Given the description of an element on the screen output the (x, y) to click on. 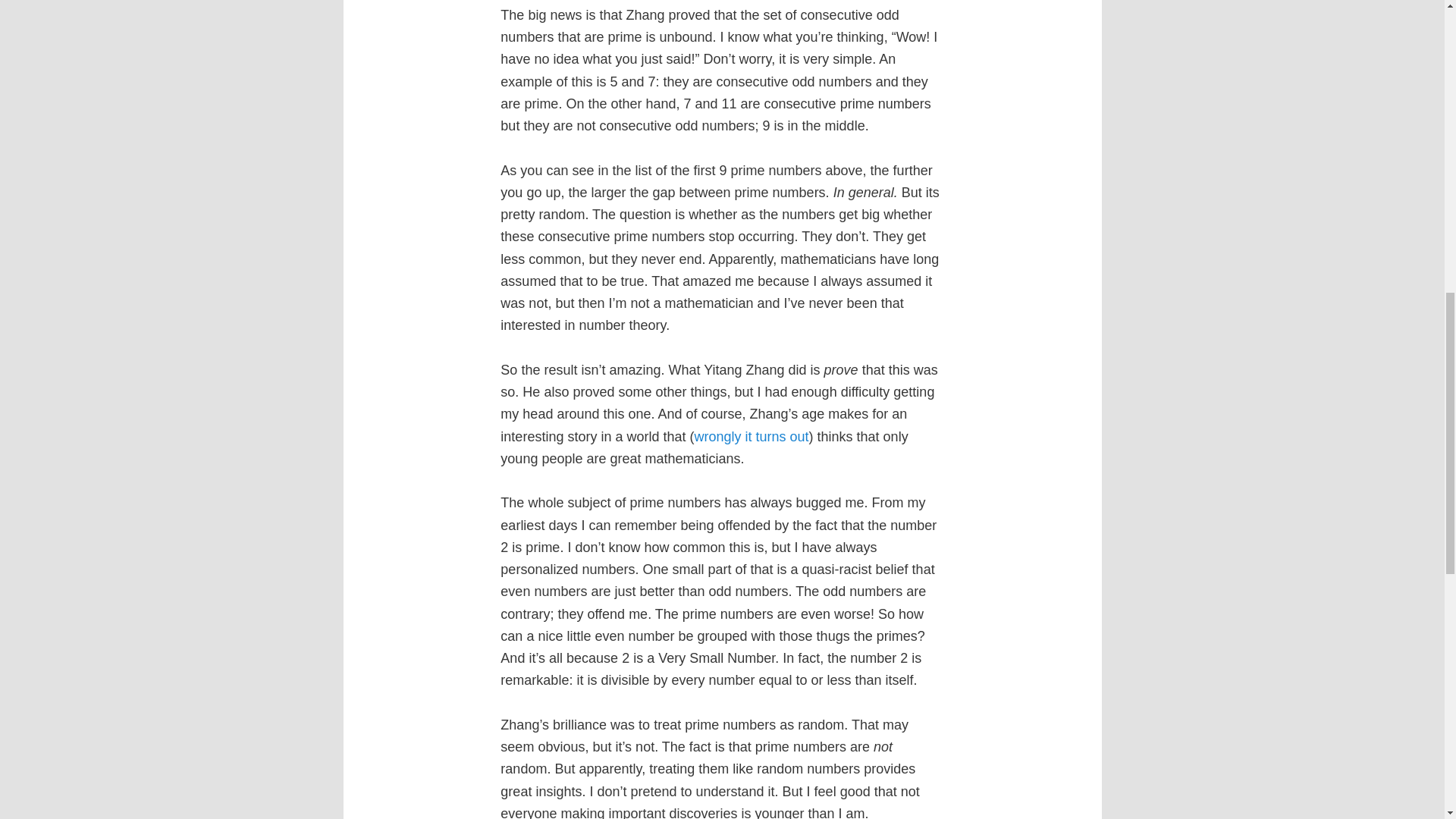
wrongly it turns out (751, 436)
